Given the description of an element on the screen output the (x, y) to click on. 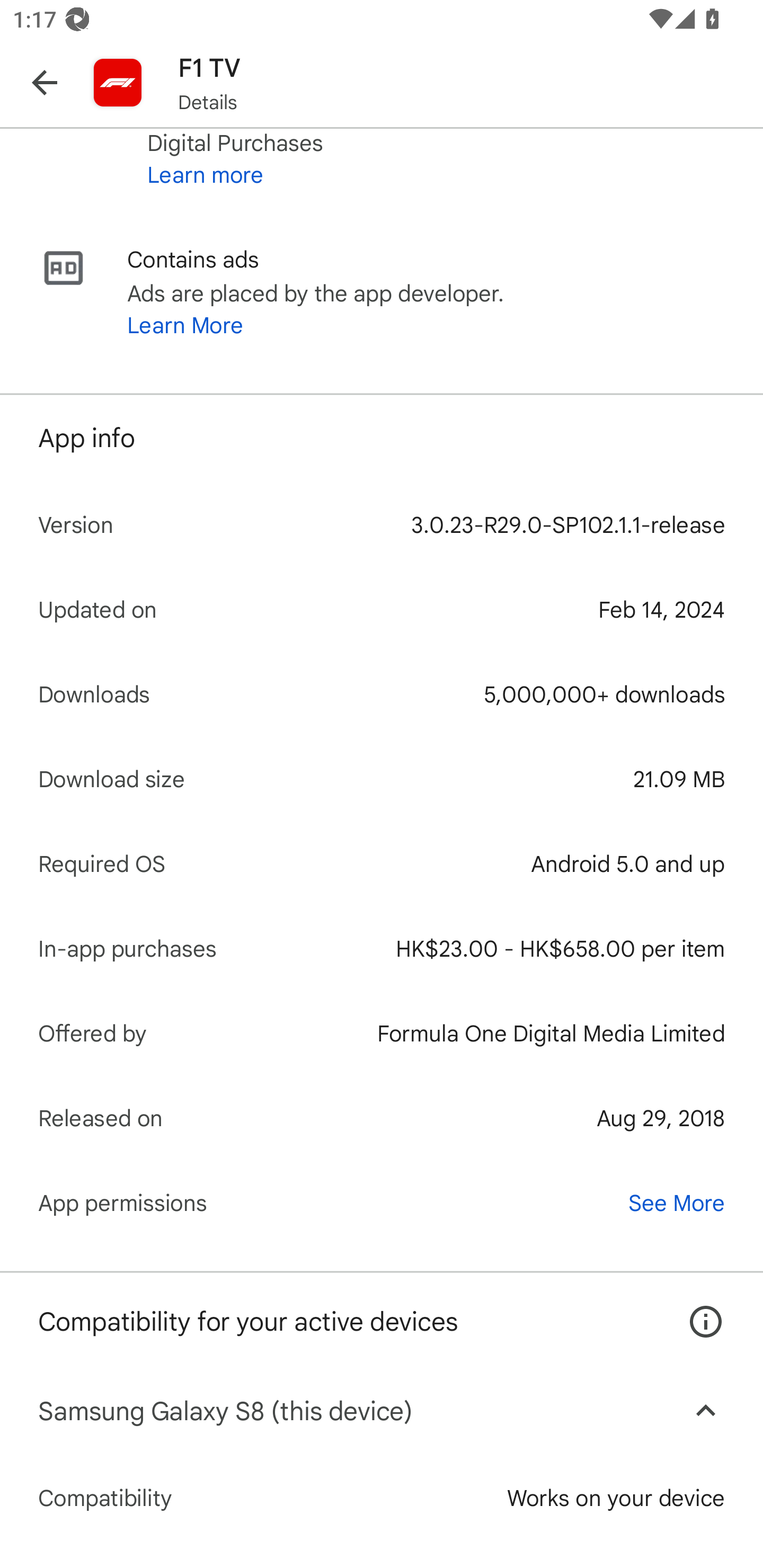
Navigate up (44, 82)
App permissions See More (381, 1202)
How this App works on your devices. (695, 1308)
Samsung Galaxy S8 (this device) Collapse (381, 1410)
Collapse (705, 1411)
